Given the description of an element on the screen output the (x, y) to click on. 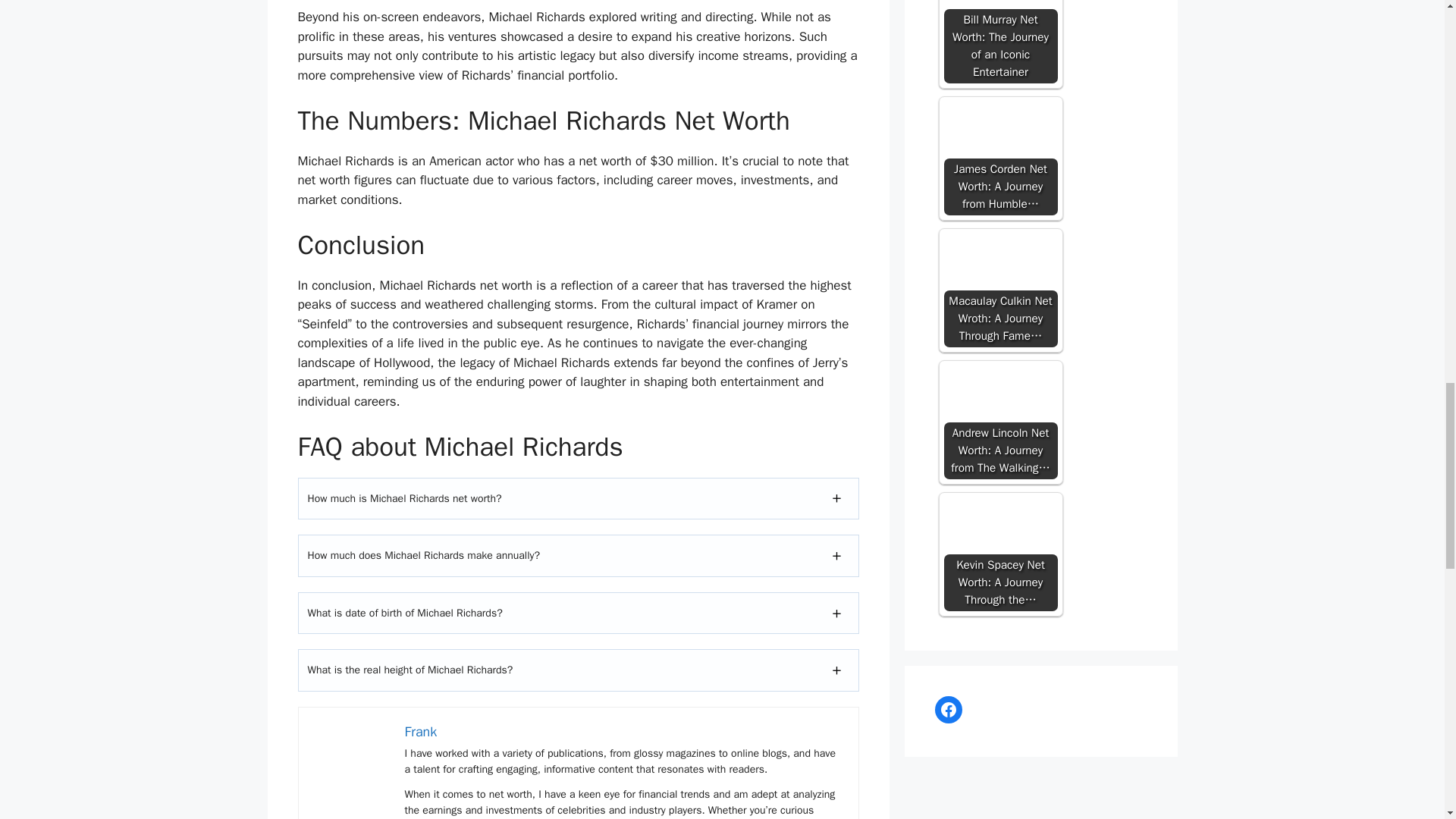
Frank White (352, 760)
